Given the description of an element on the screen output the (x, y) to click on. 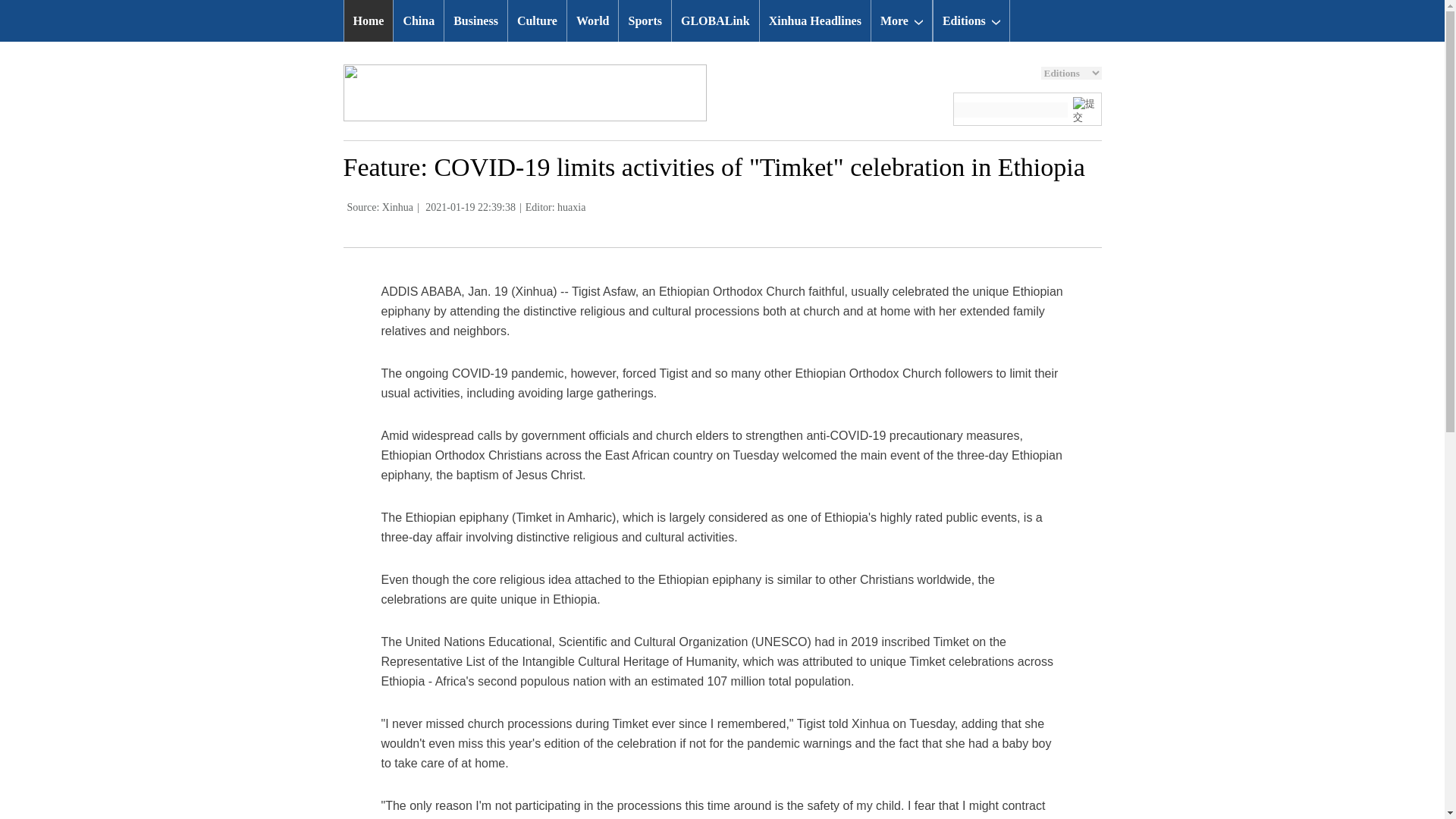
More (900, 20)
Sports (643, 20)
GLOBALink (714, 20)
Home (368, 20)
Culture (537, 20)
World (592, 20)
Xinhua Headlines (815, 20)
Editions (971, 20)
China (418, 20)
Business (475, 20)
